Given the description of an element on the screen output the (x, y) to click on. 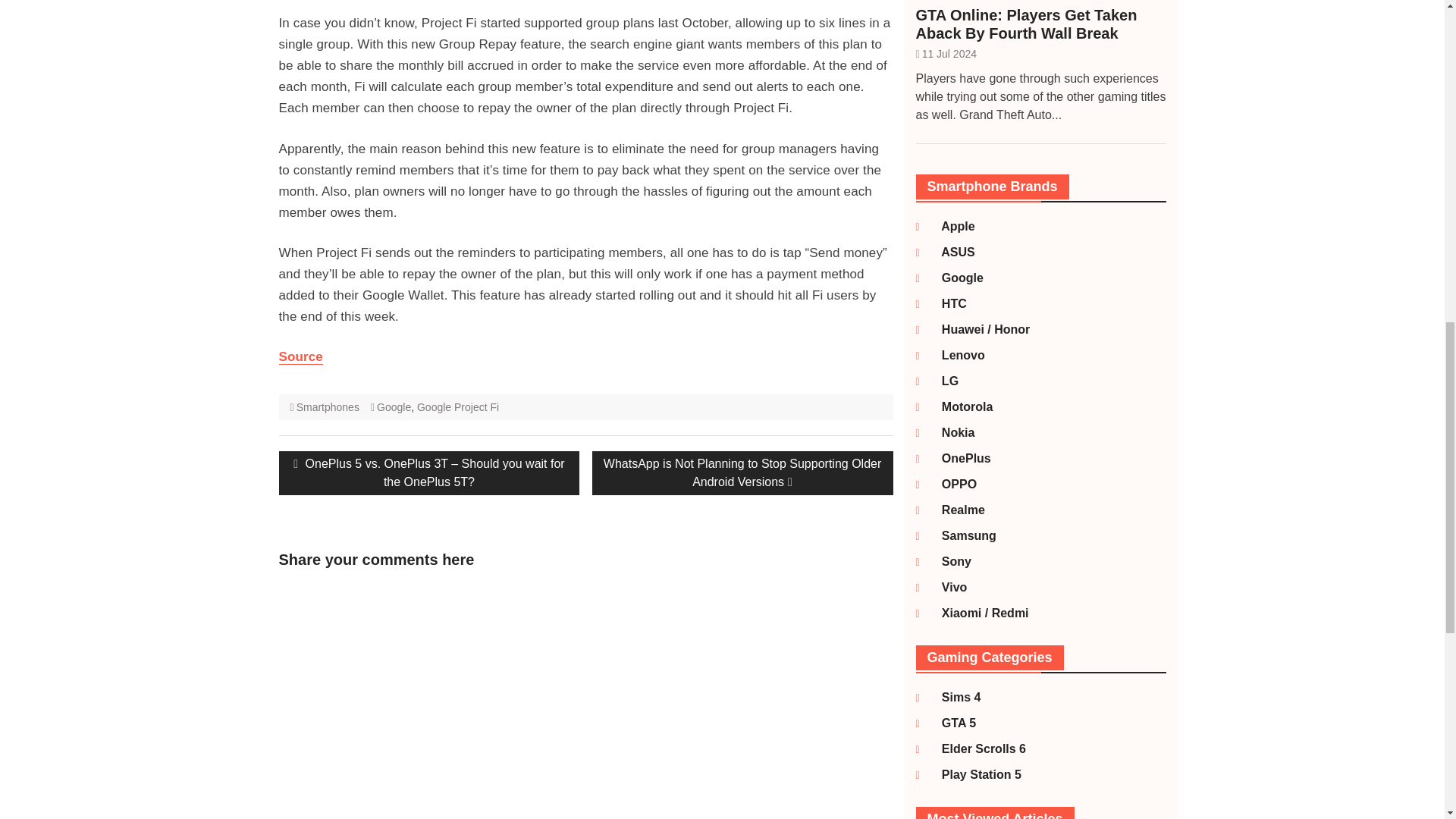
GTA Online: Players Get Taken Aback By Fourth Wall Break (1040, 23)
Comment Form (380, 700)
     Google (954, 277)
Smartphones (328, 407)
     Apple (949, 226)
Google Project Fi (457, 407)
Source (301, 356)
Google (393, 407)
     ASUS (949, 251)
